Given the description of an element on the screen output the (x, y) to click on. 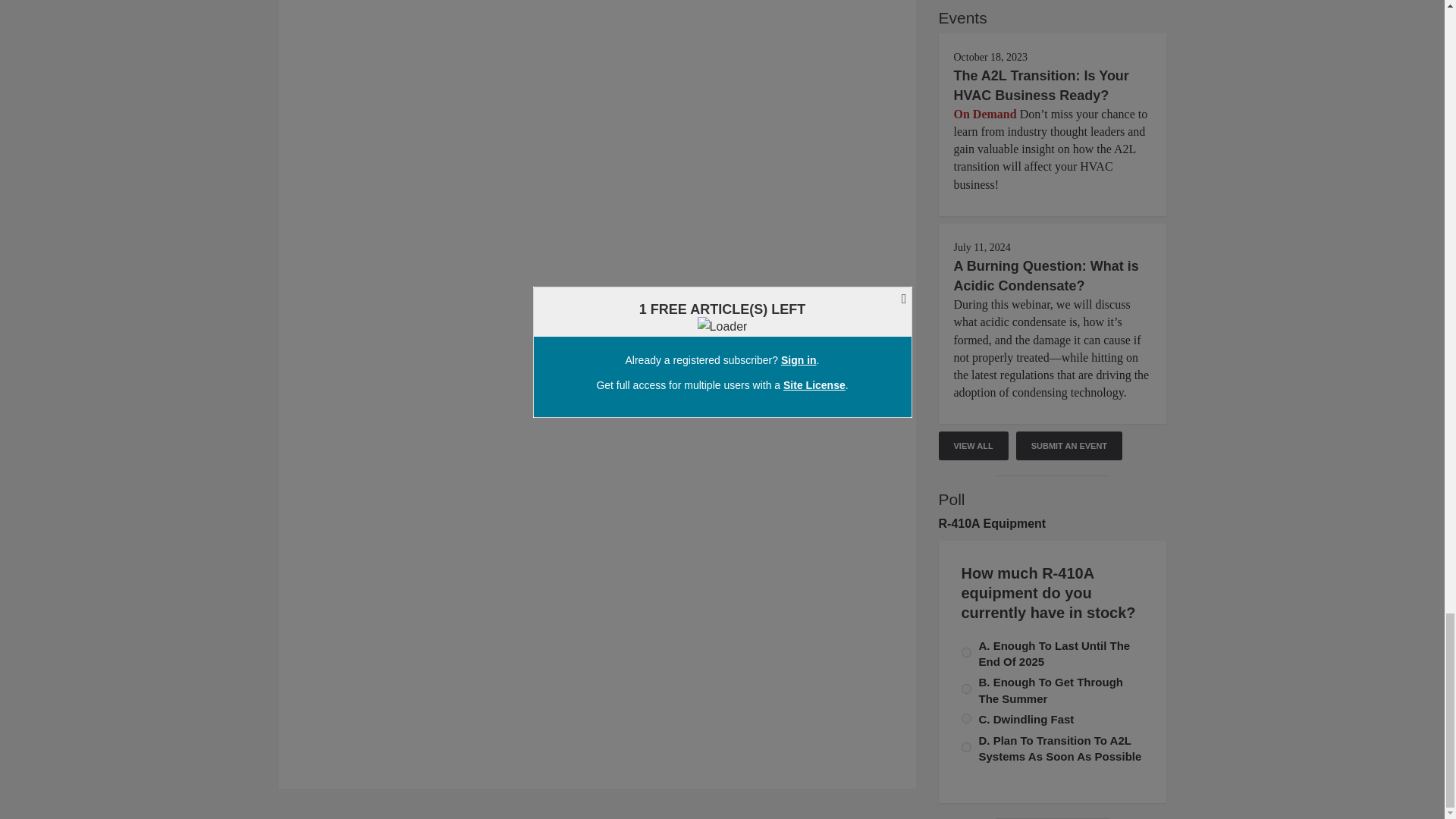
A Burning Question: What is Acidic Condensate? (1045, 275)
597 (965, 652)
599 (965, 747)
The A2L Transition: Is Your HVAC Business Ready? (1041, 85)
598 (965, 718)
596 (965, 688)
